Given the description of an element on the screen output the (x, y) to click on. 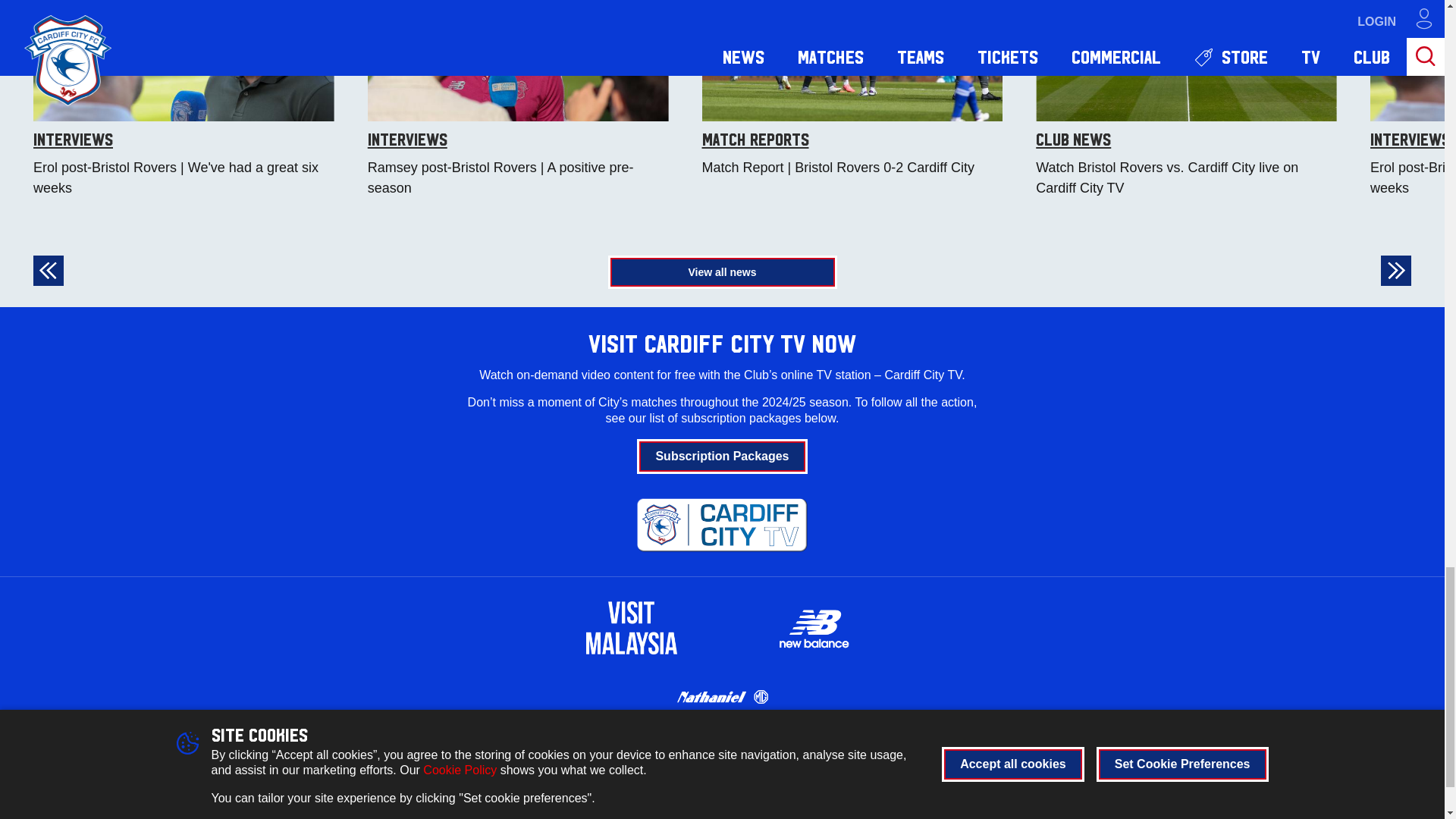
Nathaniel Cars (722, 696)
New Balance (813, 627)
Visit Malaysia (631, 627)
